Given the description of an element on the screen output the (x, y) to click on. 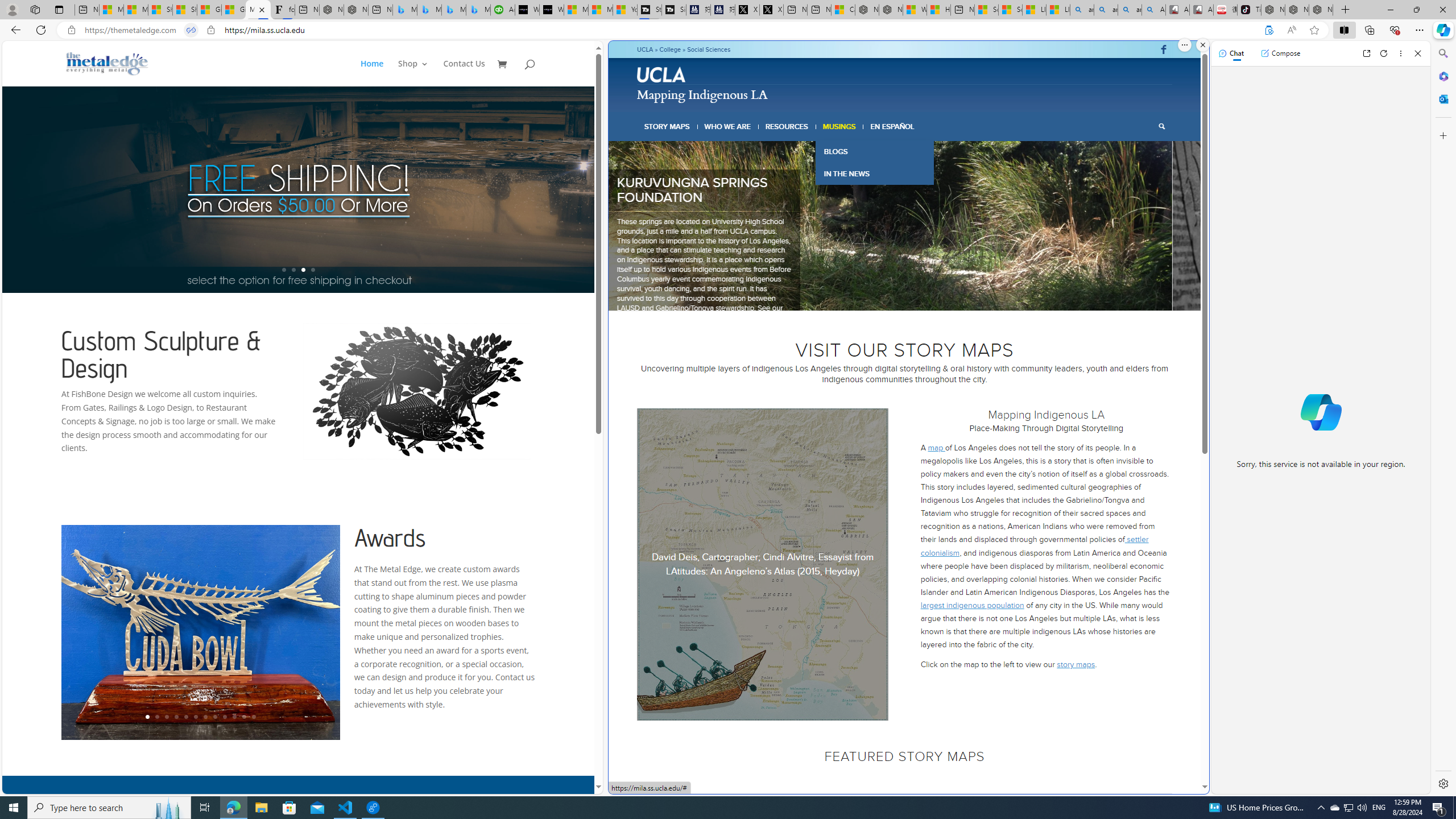
RESOURCES (786, 126)
Support THE UCLA FOUNDATION? (1268, 29)
TikTok (1248, 9)
12 (253, 716)
All Cubot phones (1201, 9)
What's the best AI voice generator? - voice.ai (551, 9)
BLOGS (874, 151)
Mapping Indigenous LA (258, 9)
Compose (1280, 52)
Microsoft 365 (1442, 76)
Nordace Siena Pro 15 Backpack (1296, 9)
UCLA logo (661, 74)
